Given the description of an element on the screen output the (x, y) to click on. 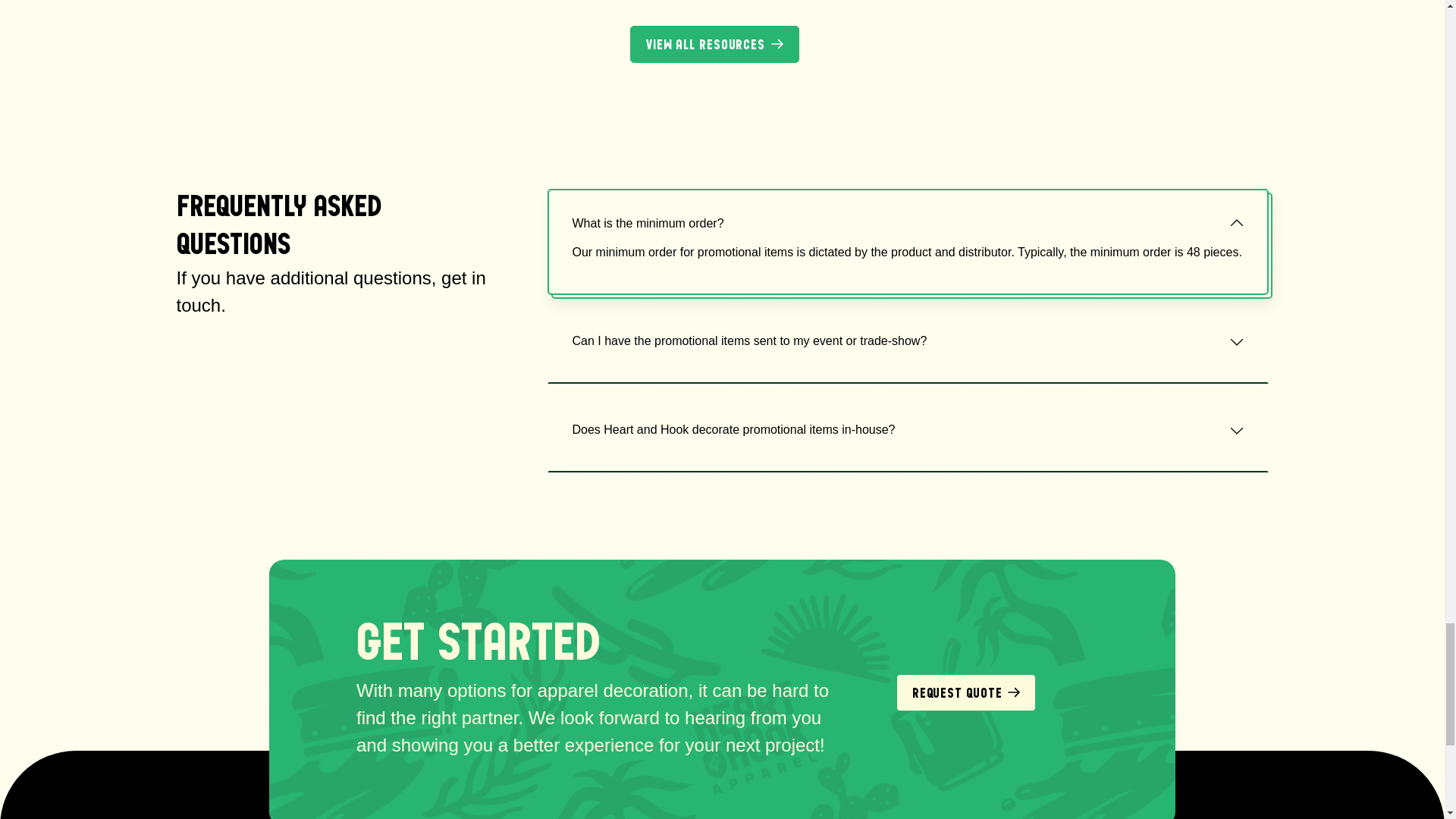
REQUEST QUOTE (966, 692)
VIEW ALL RESOURCES (714, 44)
